Given the description of an element on the screen output the (x, y) to click on. 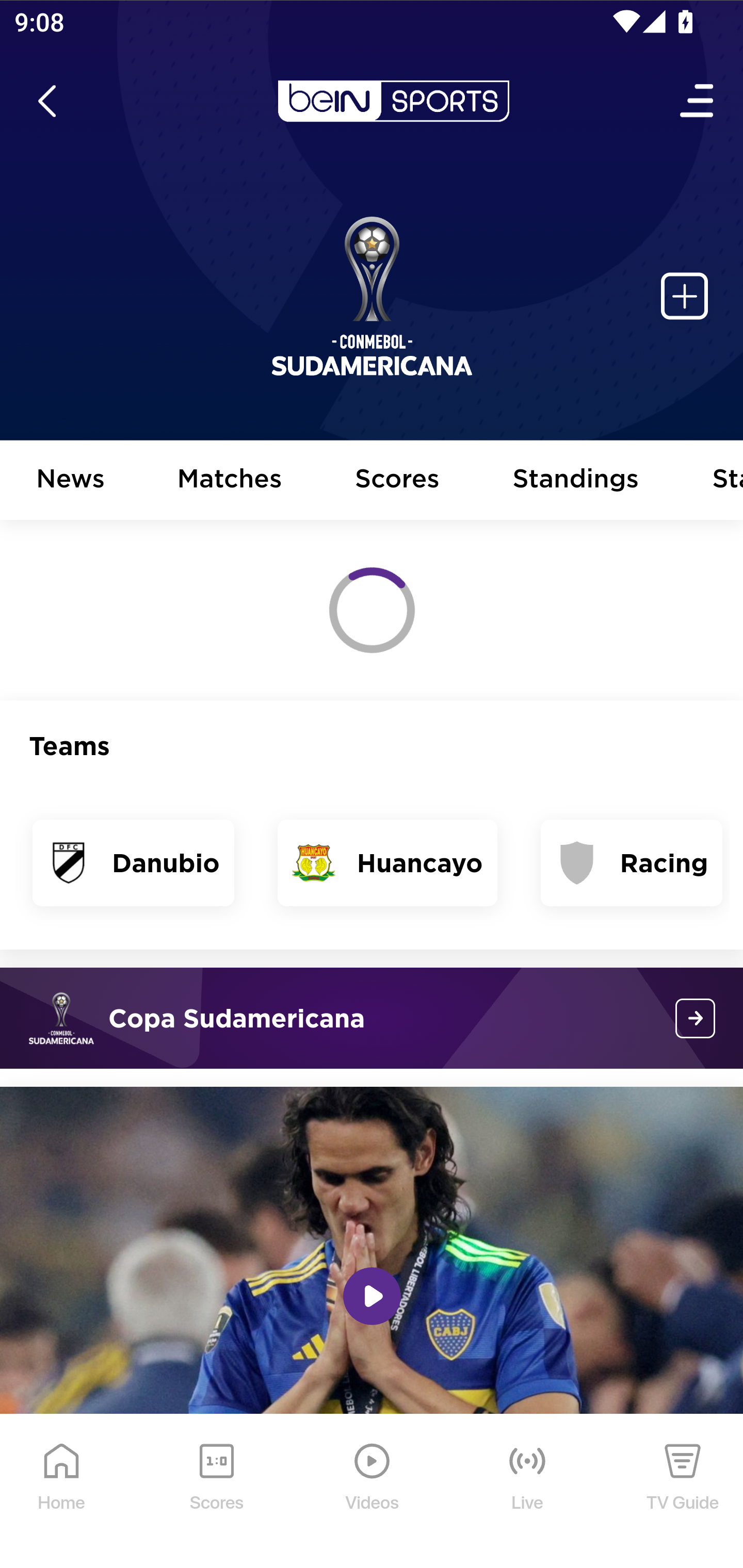
en-us?platform=mobile_android bein logo white (392, 101)
icon back (46, 101)
Open Menu Icon (697, 101)
News (70, 480)
Matches (229, 480)
Scores (397, 480)
Standings (575, 480)
Danubio Danubio Danubio (133, 863)
Huancayo Huancayo Huancayo (387, 863)
Racing (631, 863)
conmebol-sudamericana?platform=mobile_android (695, 1018)
Home Home Icon Home (61, 1491)
Scores Scores Icon Scores (216, 1491)
Videos Videos Icon Videos (372, 1491)
TV Guide TV Guide Icon TV Guide (682, 1491)
